Given the description of an element on the screen output the (x, y) to click on. 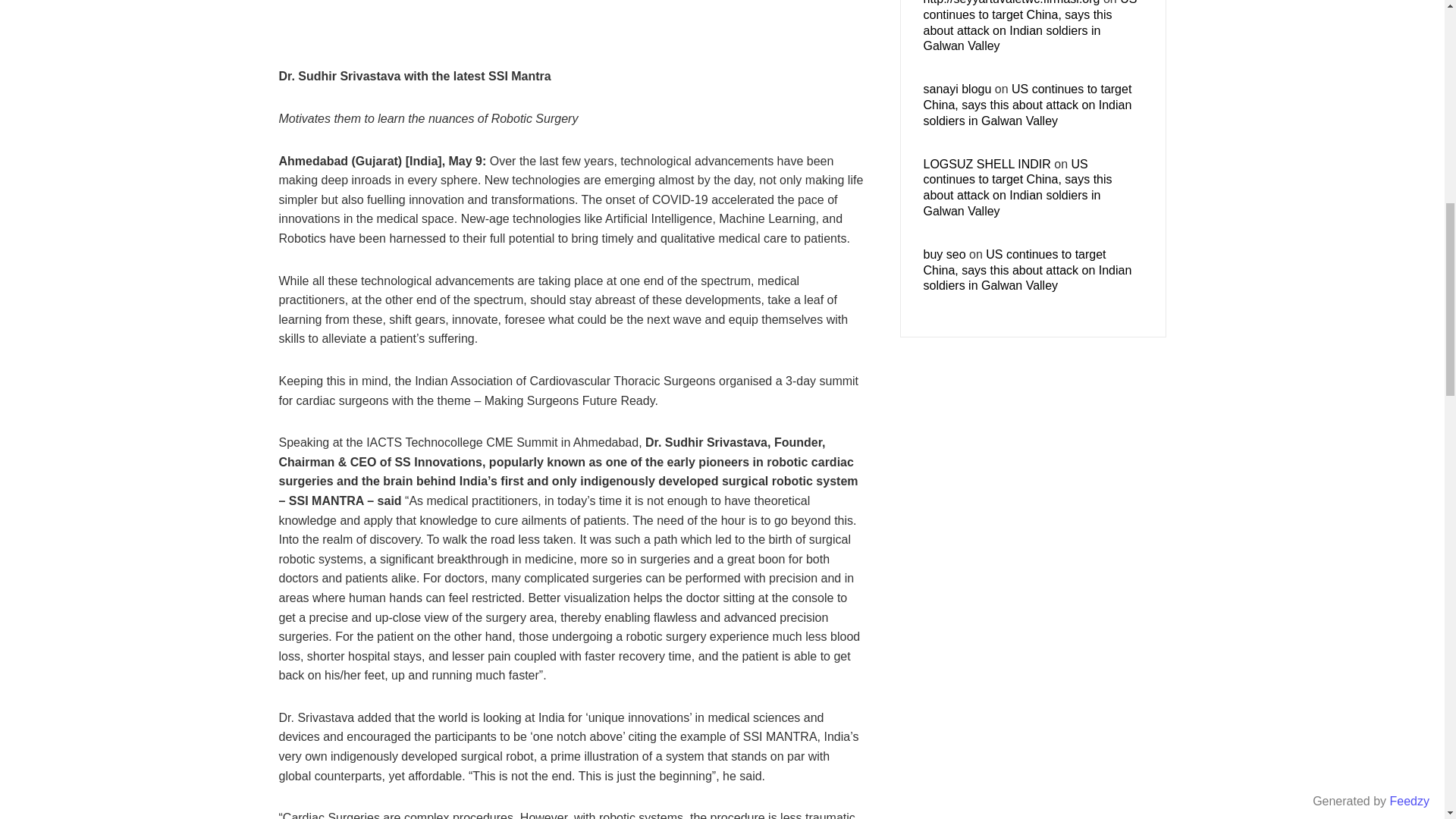
buy seo (944, 254)
sanayi blogu (957, 88)
LOGSUZ SHELL INDIR (987, 164)
